Given the description of an element on the screen output the (x, y) to click on. 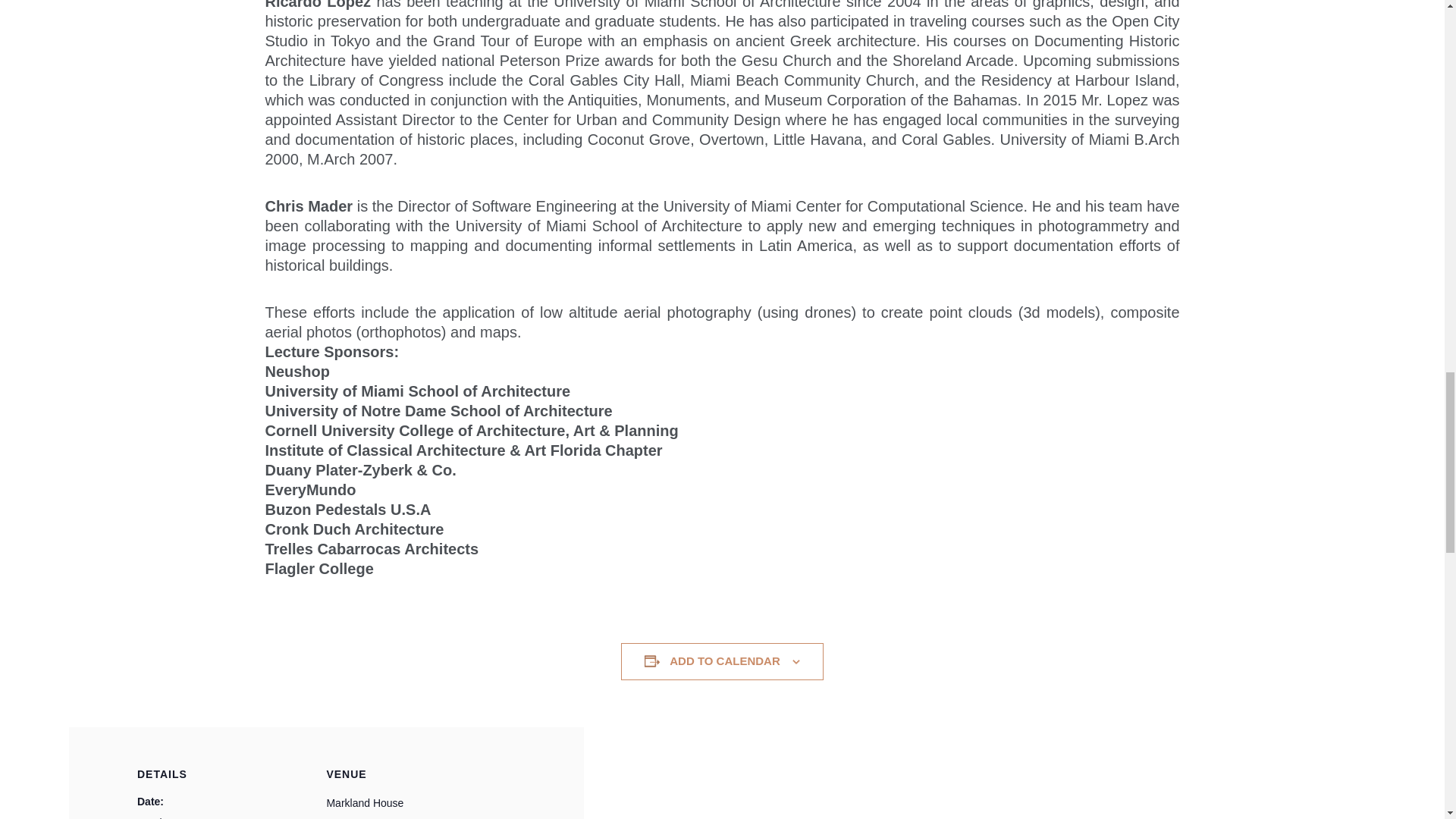
2017-10-28 (177, 817)
